Given the description of an element on the screen output the (x, y) to click on. 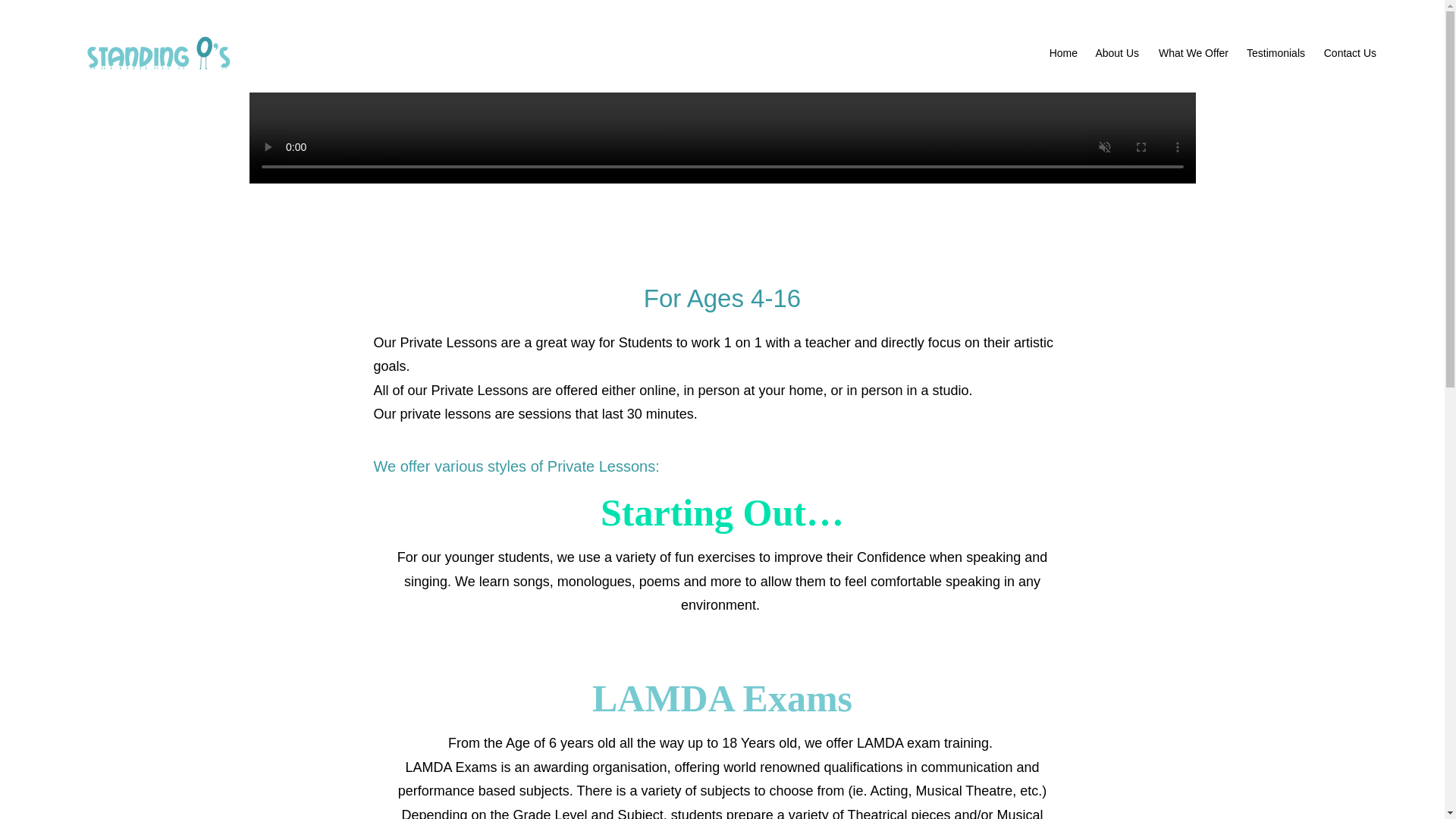
Testimonials (1274, 53)
About Us (1115, 53)
Contact Us (1348, 53)
